Given the description of an element on the screen output the (x, y) to click on. 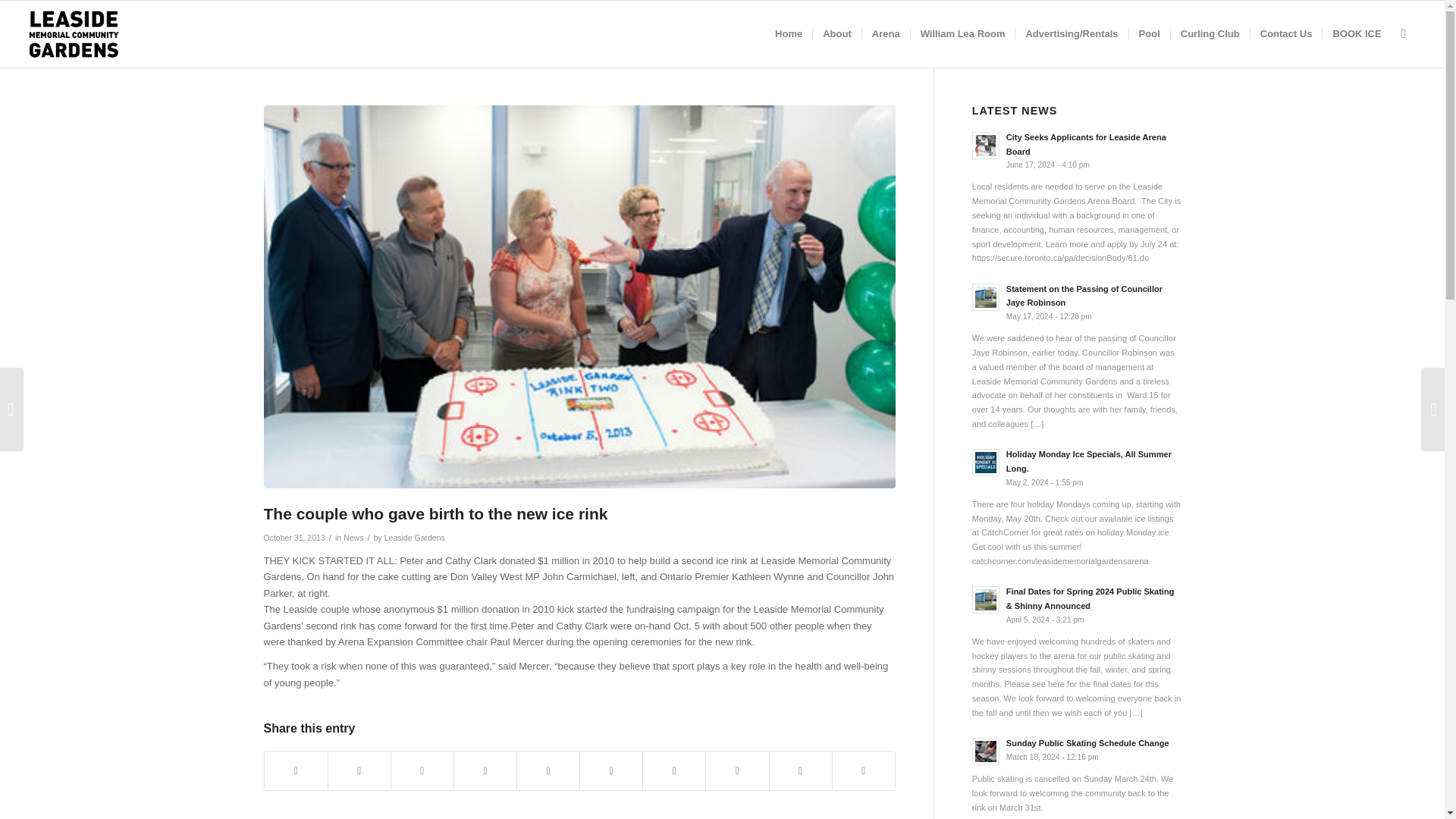
BOOK ICE (1356, 33)
Contact Us (1285, 33)
Holiday Monday Ice Specials, All Summer Long. (1089, 461)
leaside-gardens-logo (74, 33)
City Seeks Applicants for Leaside Arena Board (1086, 144)
Curling Club (1209, 33)
Read: City Seeks Applicants for Leaside Arena Board (985, 144)
William Lea Room (962, 33)
News (352, 537)
Statement on the Passing of Councillor Jaye Robinson (1083, 295)
Posts by Leaside Gardens (414, 537)
Leaside Gardens (414, 537)
